Given the description of an element on the screen output the (x, y) to click on. 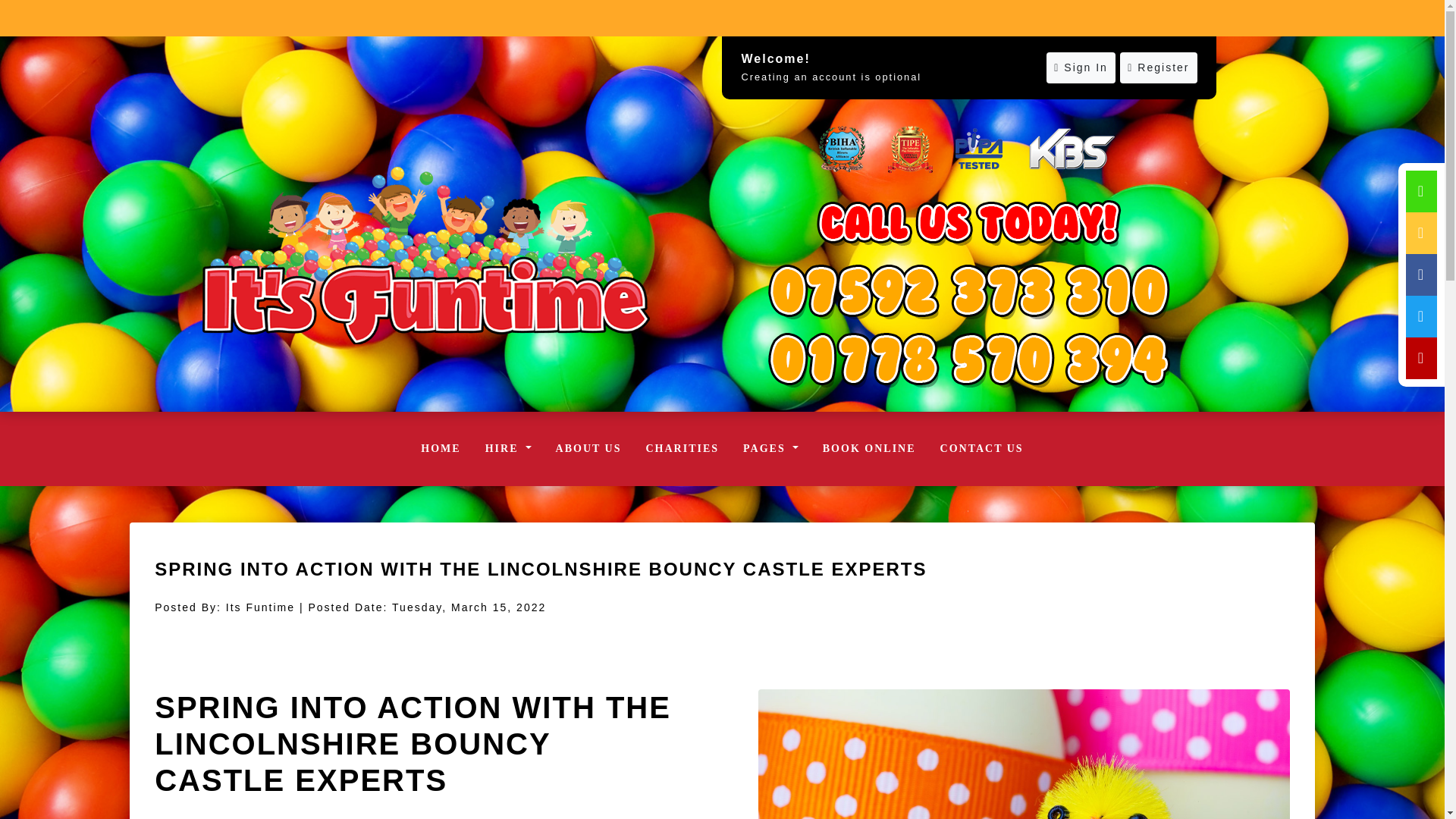
PAGES (770, 448)
Sign In (1080, 67)
CONTACT US (981, 448)
ABOUT US (588, 448)
BOOK ONLINE (869, 448)
Call Us Today 01778570394 (968, 291)
Its Funtime (425, 255)
CHARITIES (681, 448)
Register (1157, 67)
HIRE (508, 448)
